Given the description of an element on the screen output the (x, y) to click on. 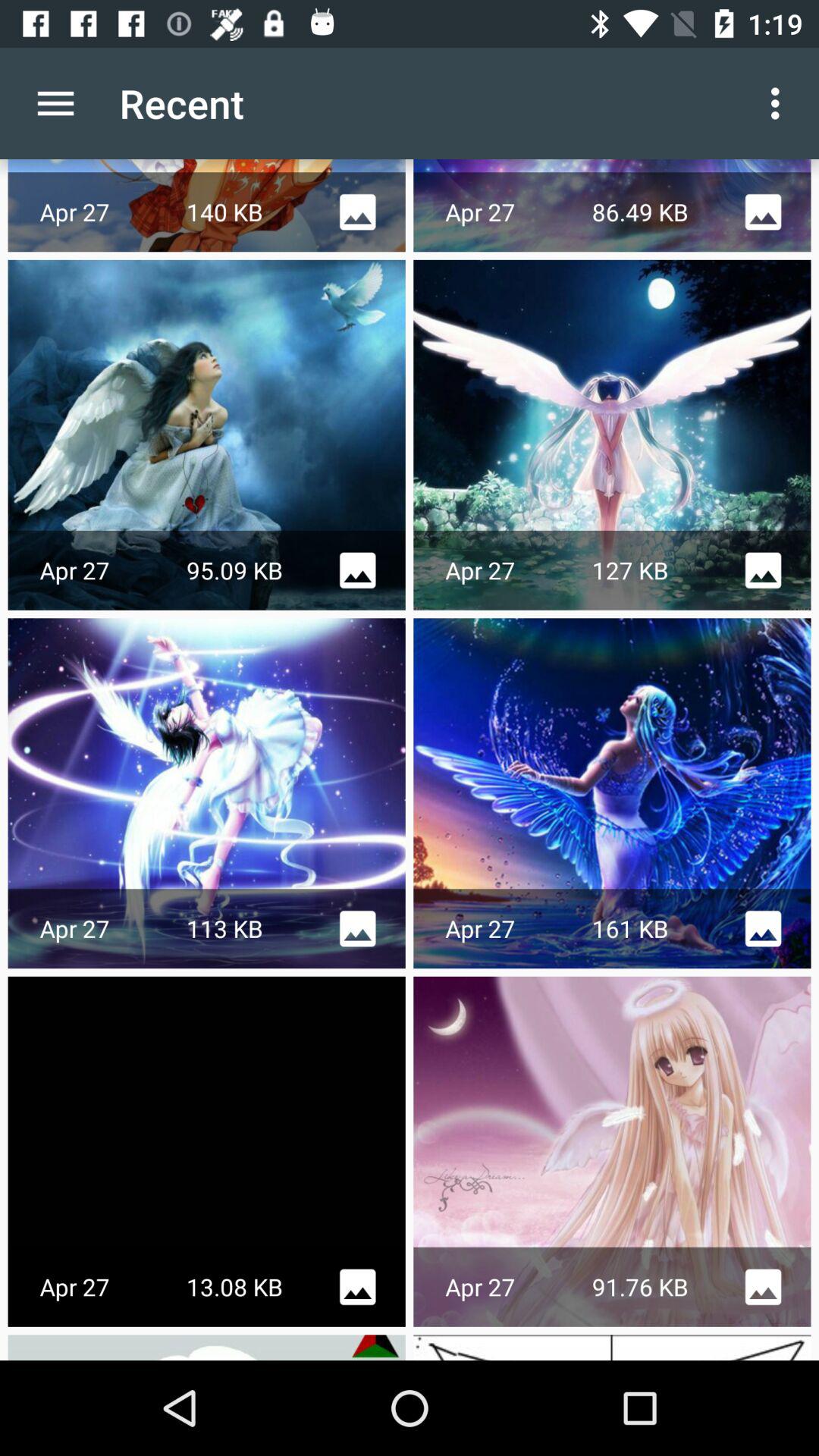
open the app next to recent icon (55, 103)
